Given the description of an element on the screen output the (x, y) to click on. 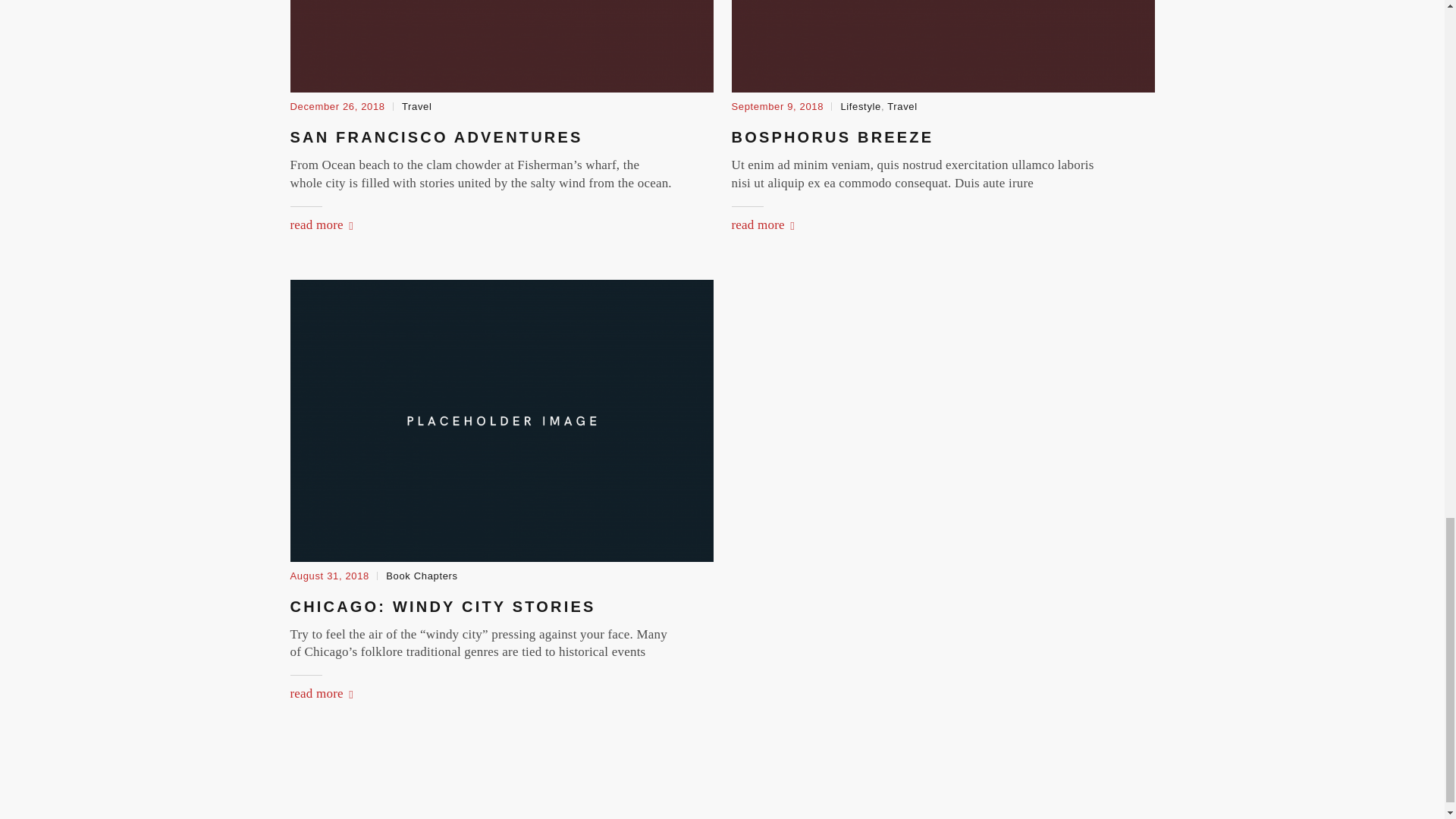
Travel (416, 106)
December 26, 2018 (336, 106)
SAN FRANCISCO ADVENTURES (435, 136)
